Given the description of an element on the screen output the (x, y) to click on. 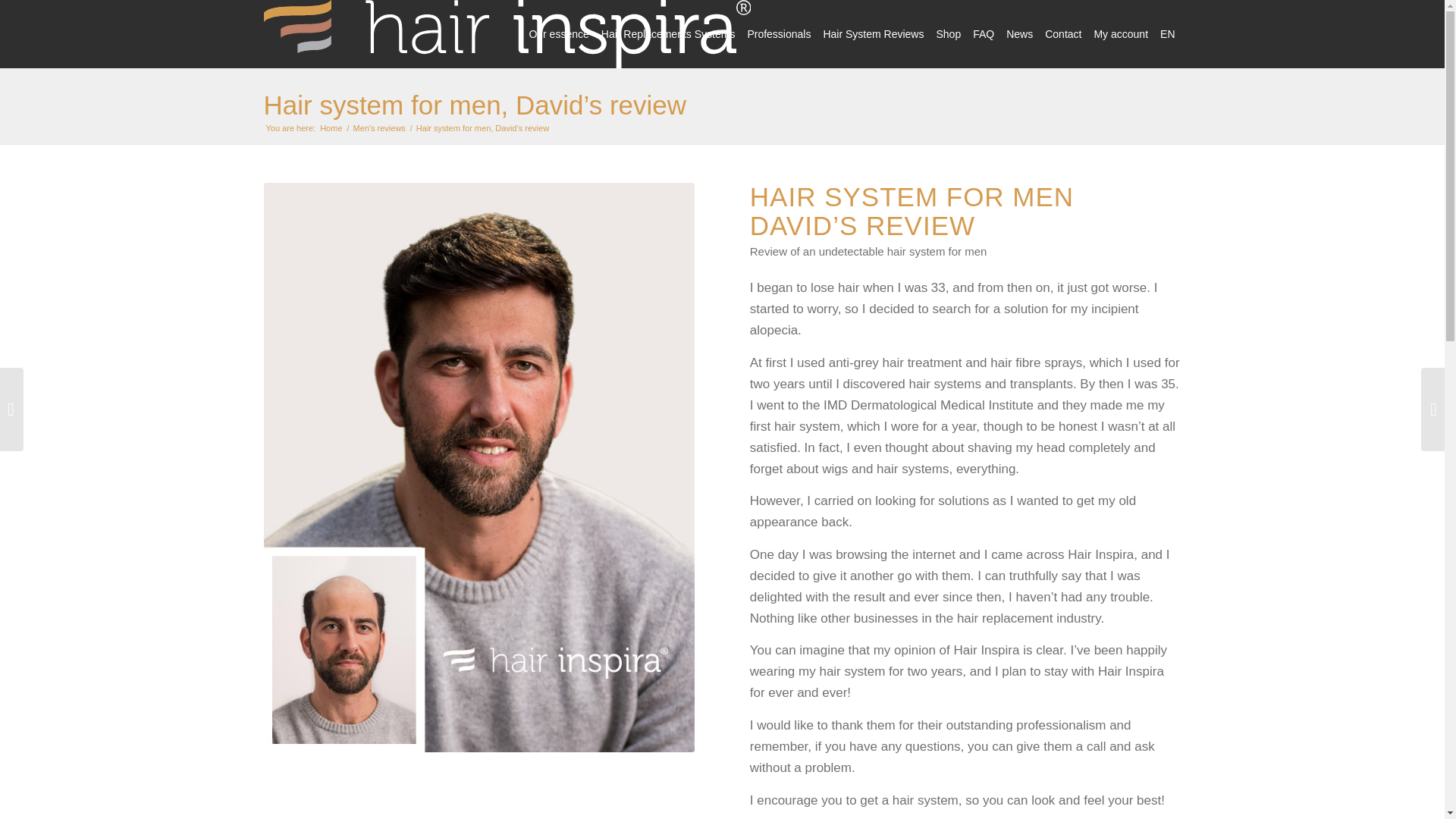
logo-hair-inspira-expertos-protesis-capilares (507, 33)
Hair Inspira essence (558, 33)
Hair Replacements Systems (668, 33)
Men's reviews (378, 128)
Our essence (558, 33)
Home (330, 128)
Hair System Reviews (873, 33)
Professionals (778, 33)
Hair replacements Systems and accessories (668, 33)
My account (1120, 33)
